Given the description of an element on the screen output the (x, y) to click on. 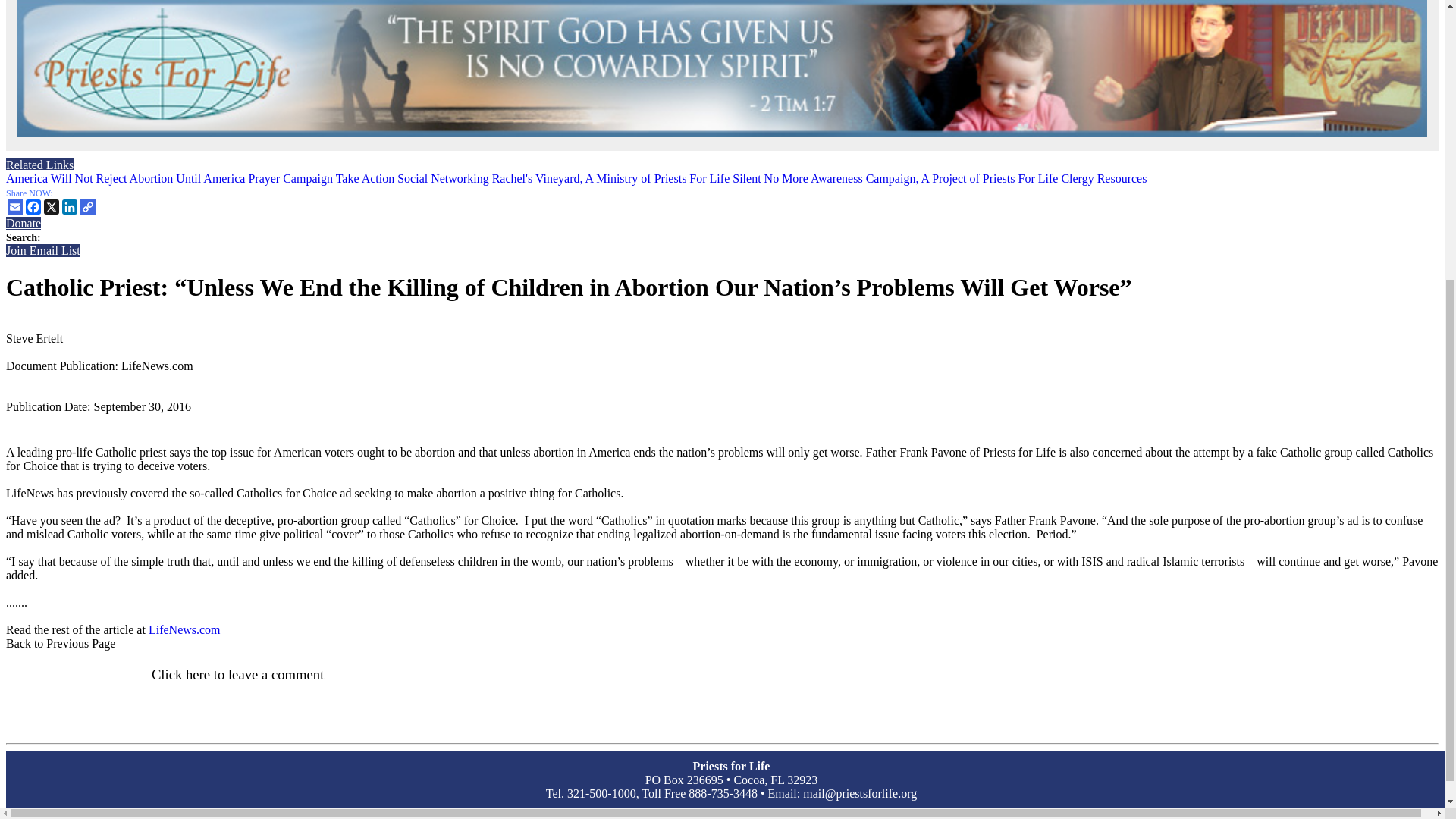
Share on Social Media (721, 201)
Related Links (721, 171)
